Given the description of an element on the screen output the (x, y) to click on. 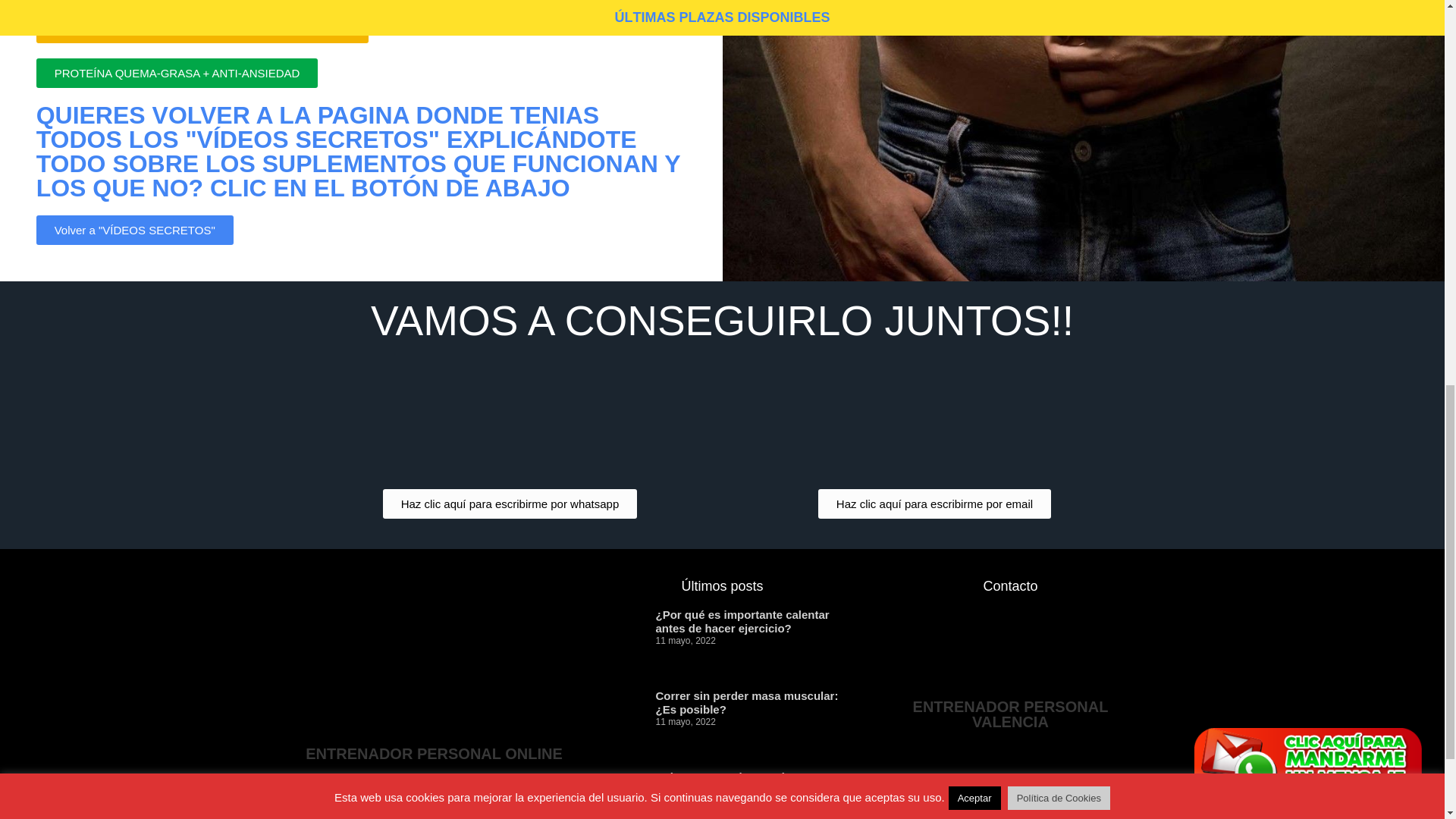
icono-email1.png (934, 417)
icono-whatsapp-2.png (509, 417)
